Given the description of an element on the screen output the (x, y) to click on. 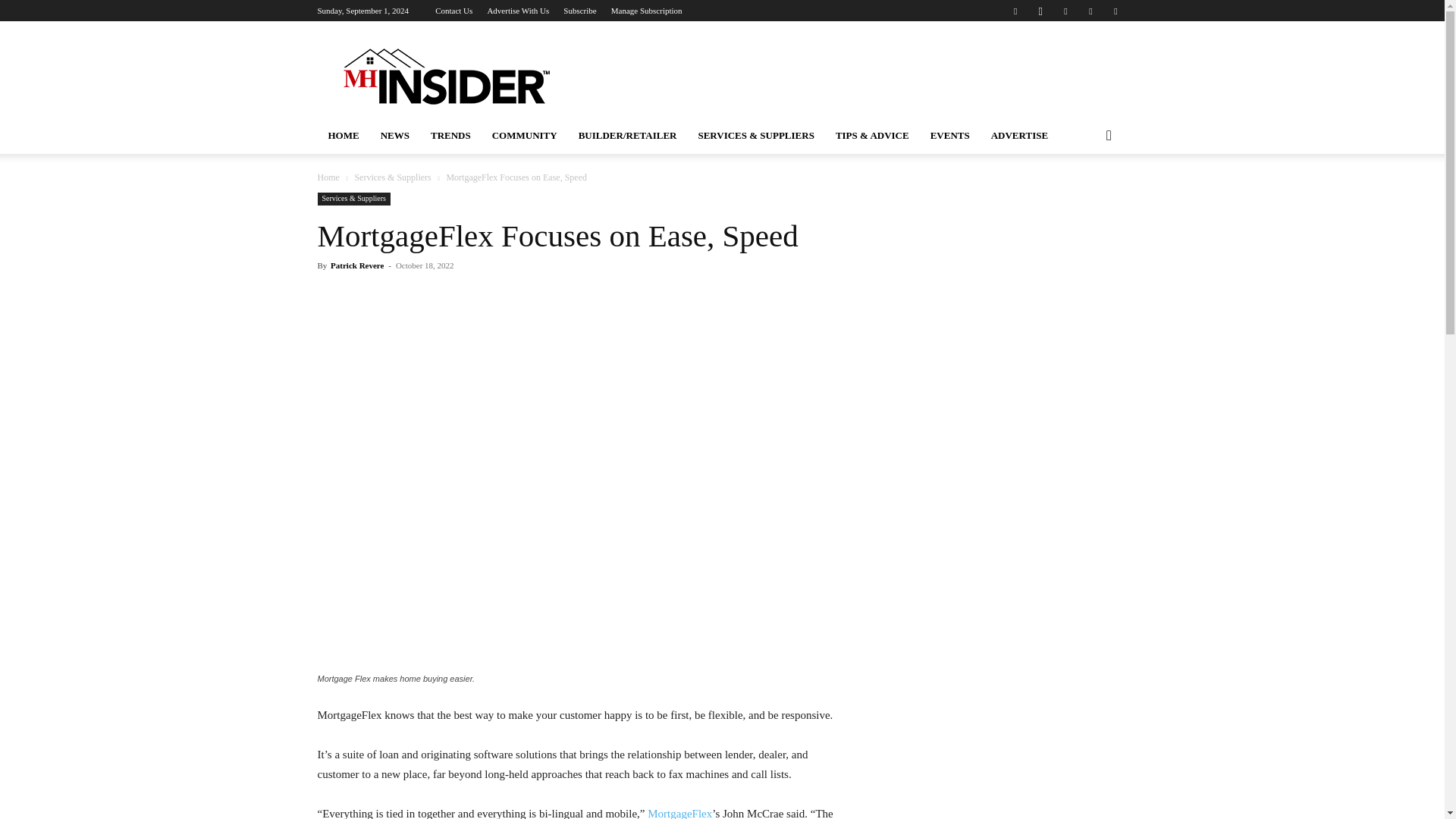
COMMUNITY (524, 135)
Contact Us (453, 10)
NEWS (394, 135)
ADVERTISE (1018, 135)
Twitter (1114, 10)
Manage Subscription (646, 10)
Linkedin (1065, 10)
Pinterest (1090, 10)
HOME (343, 135)
Facebook (1015, 10)
